Given the description of an element on the screen output the (x, y) to click on. 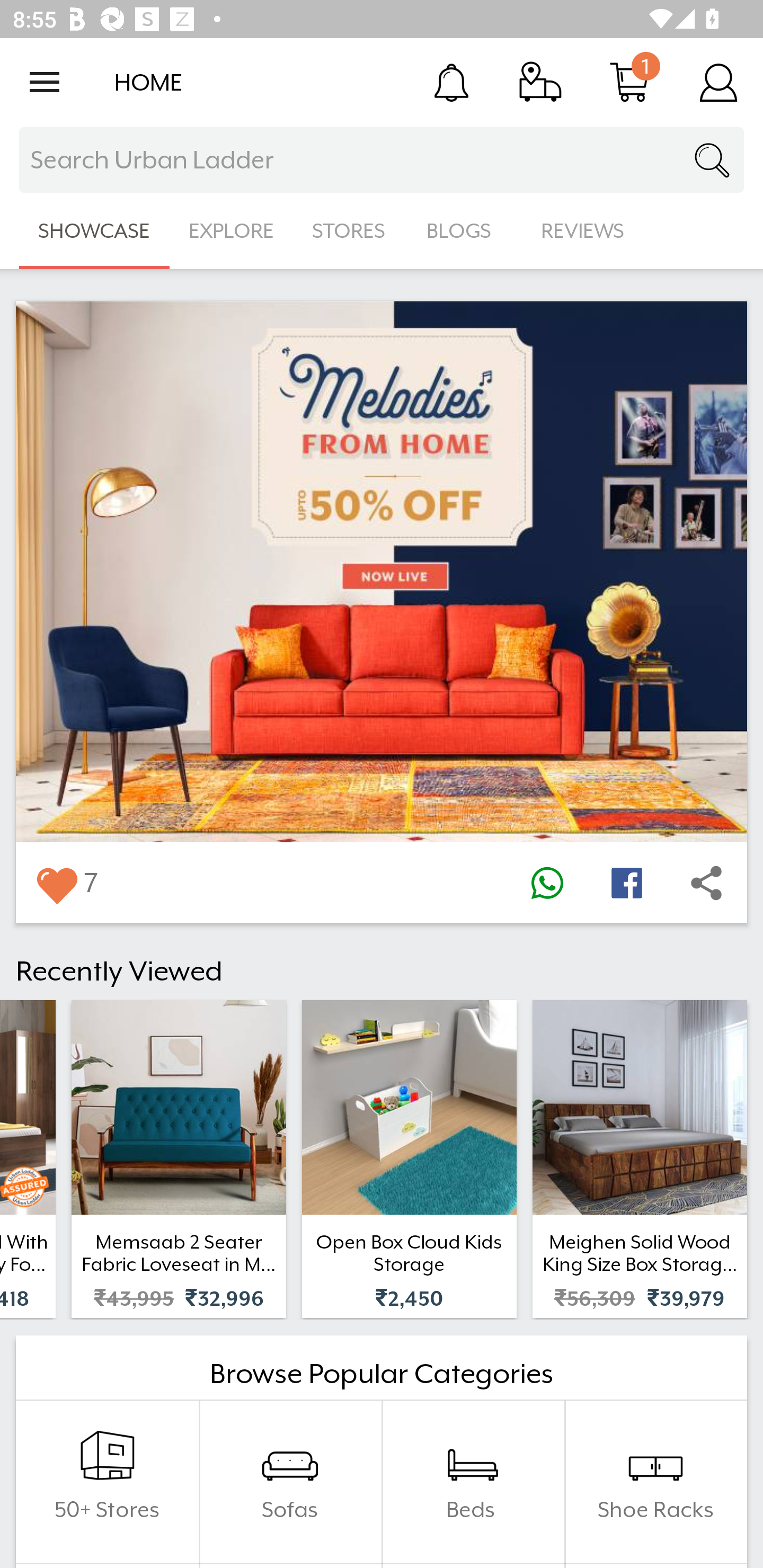
Open navigation drawer (44, 82)
Notification (450, 81)
Track Order (540, 81)
Cart (629, 81)
Account Details (718, 81)
Search Urban Ladder  (381, 159)
SHOWCASE (94, 230)
EXPLORE (230, 230)
STORES (349, 230)
BLOGS (464, 230)
REVIEWS (582, 230)
 (55, 882)
 (547, 882)
 (626, 882)
 (706, 882)
Open Box Cloud Kids Storage ₹2,450 (409, 1159)
50+ Stores (106, 1481)
Sofas (289, 1481)
Beds  (473, 1481)
Shoe Racks (655, 1481)
